Given the description of an element on the screen output the (x, y) to click on. 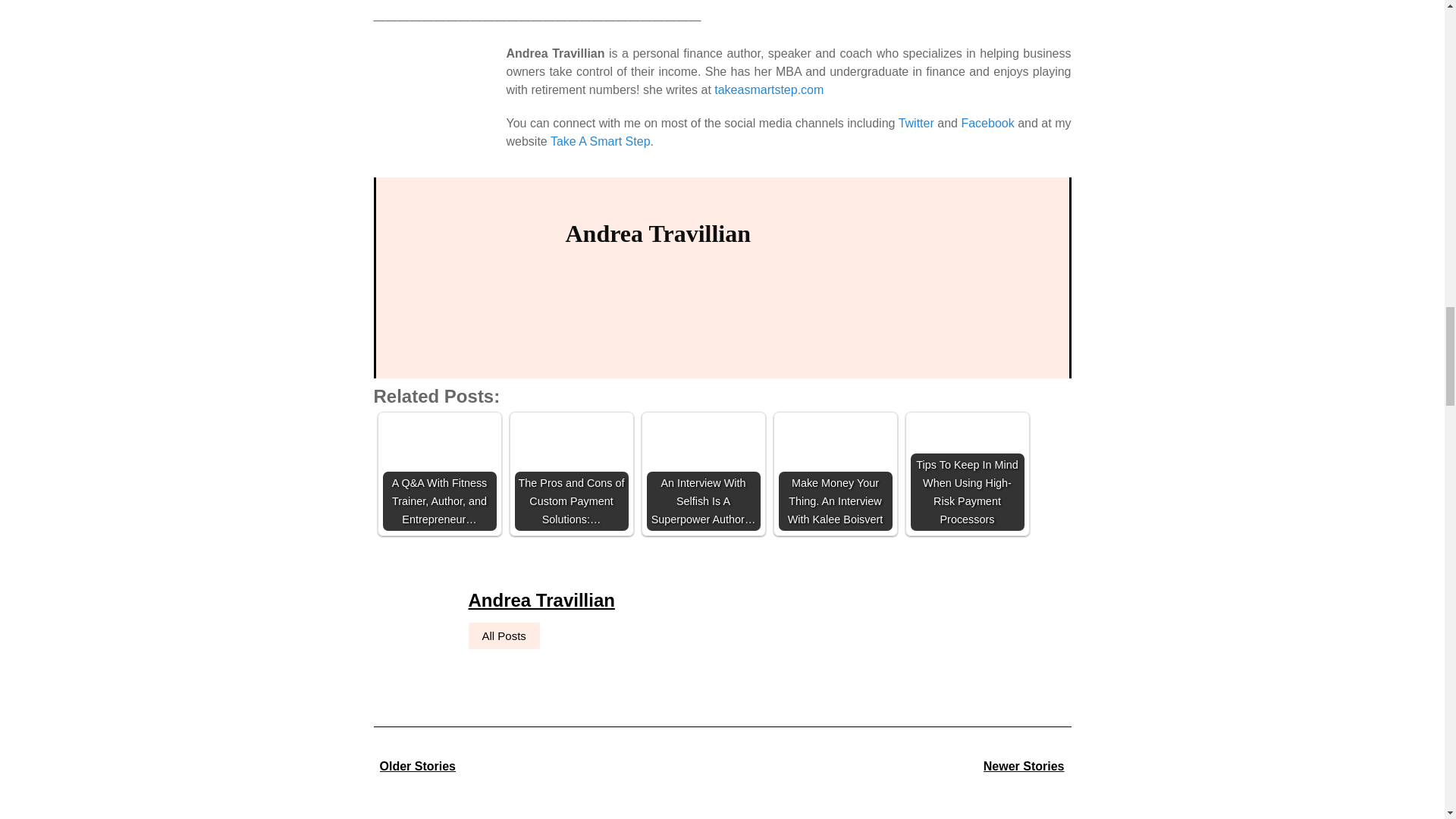
Make Money Your Thing. An Interview With Kalee Boisvert (834, 473)
Tips To Keep In Mind When Using High-Risk Payment Processors (966, 473)
